Given the description of an element on the screen output the (x, y) to click on. 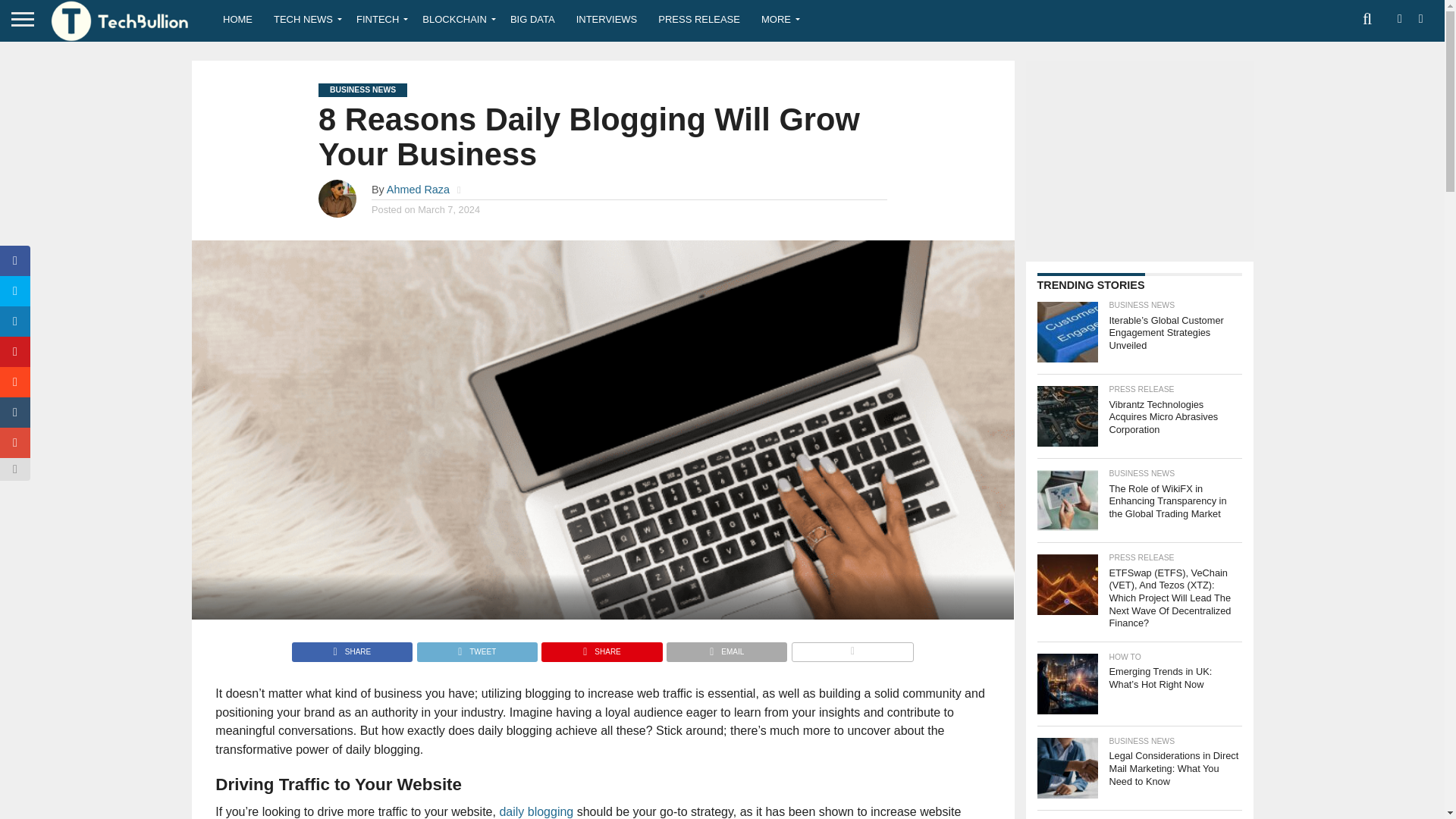
Pin This Post (601, 647)
Share on Facebook (352, 647)
Tweet This Post (476, 647)
Posts by Ahmed Raza (418, 189)
